Given the description of an element on the screen output the (x, y) to click on. 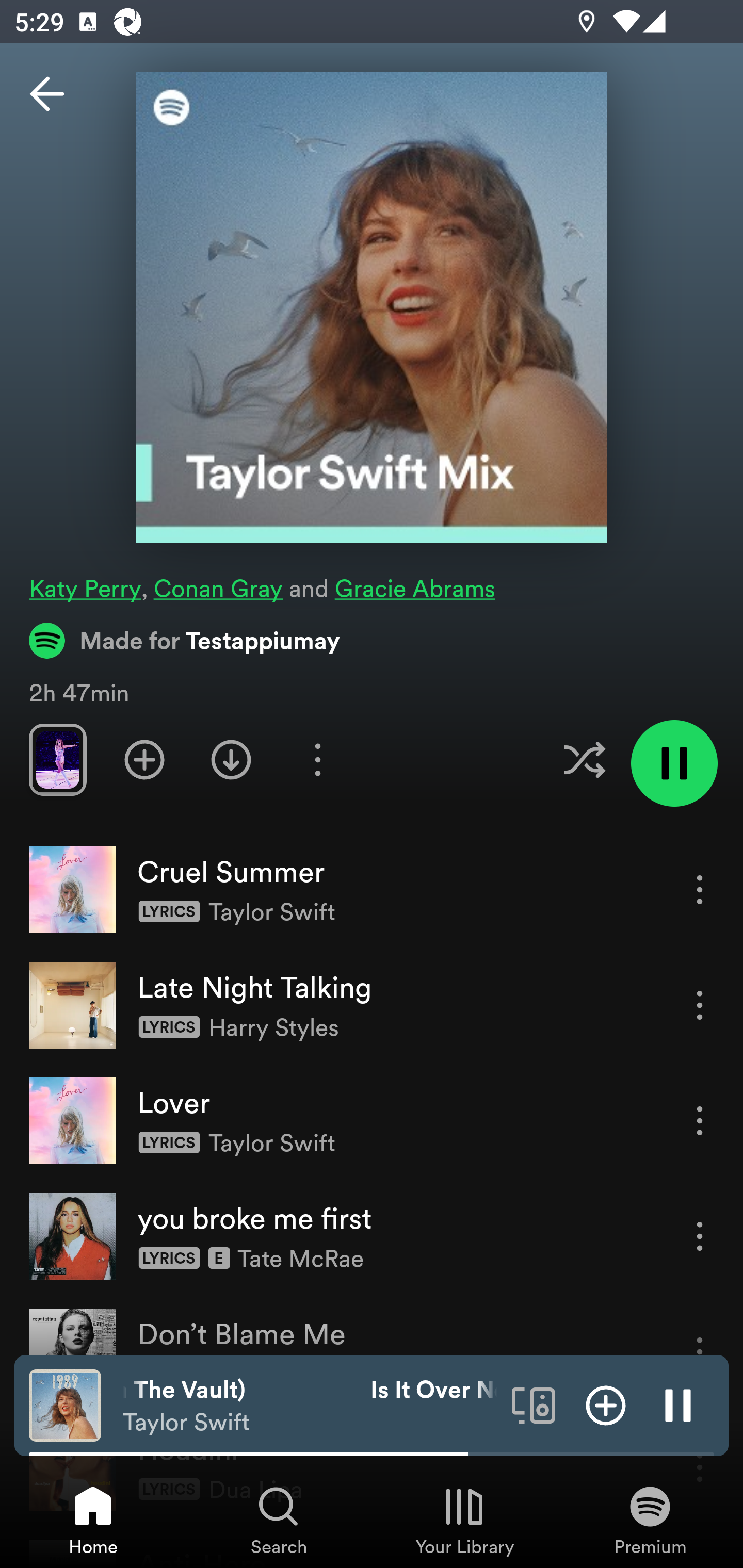
Back (46, 93)
Made for Testappiumay (184, 640)
Add playlist to Your Library (144, 759)
Download (230, 759)
More options for playlist Taylor Swift Mix (317, 759)
Enable shuffle for this playlist (583, 759)
Pause playlist (674, 763)
More options for song Cruel Summer (699, 889)
More options for song Late Night Talking (699, 1004)
More options for song Lover (699, 1120)
More options for song you broke me first (699, 1236)
The cover art of the currently playing track (64, 1404)
Connect to a device. Opens the devices menu (533, 1404)
Add item (605, 1404)
Pause (677, 1404)
Home, Tab 1 of 4 Home Home (92, 1519)
Search, Tab 2 of 4 Search Search (278, 1519)
Your Library, Tab 3 of 4 Your Library Your Library (464, 1519)
Premium, Tab 4 of 4 Premium Premium (650, 1519)
